Given the description of an element on the screen output the (x, y) to click on. 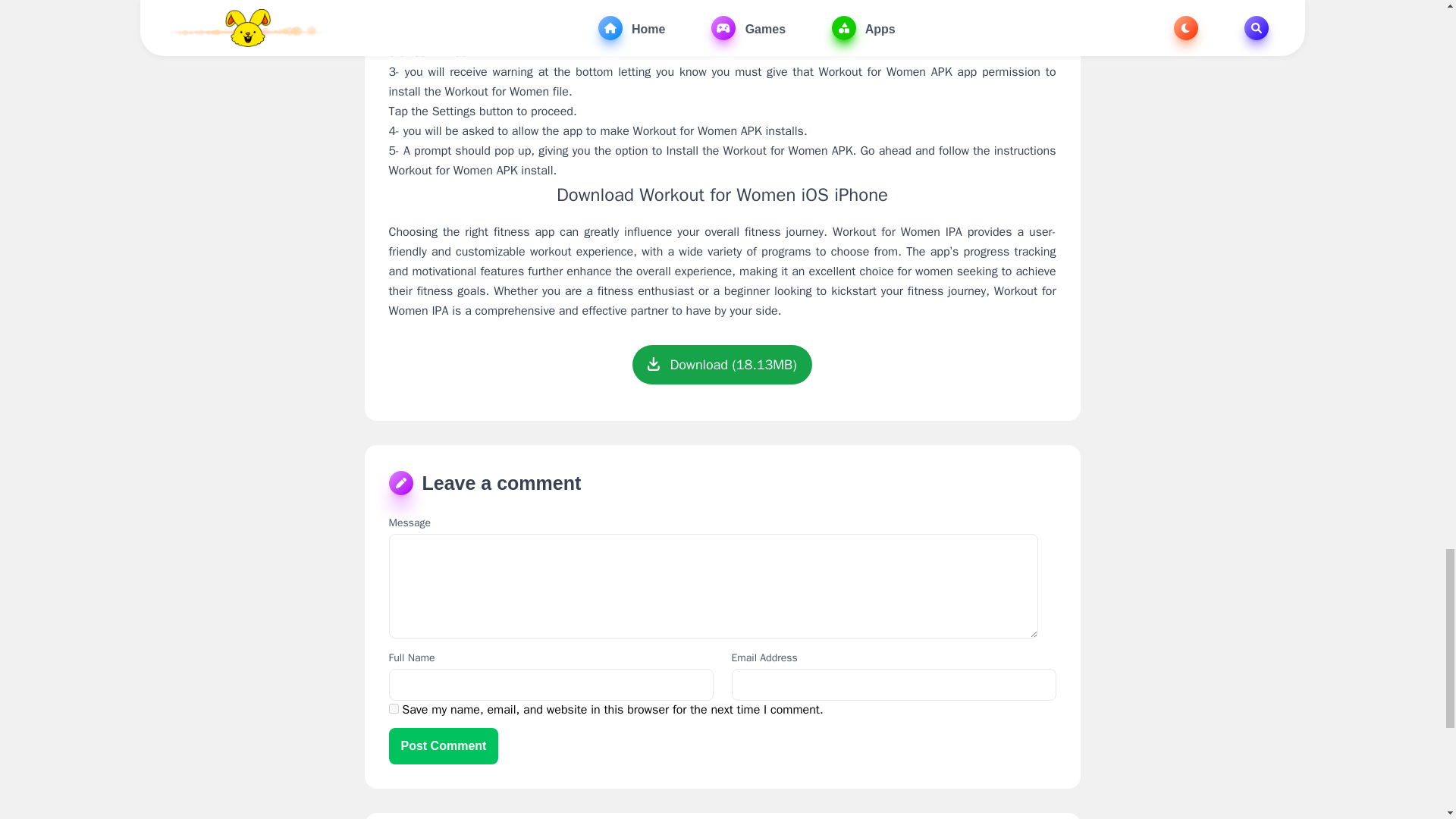
yes (392, 708)
